Given the description of an element on the screen output the (x, y) to click on. 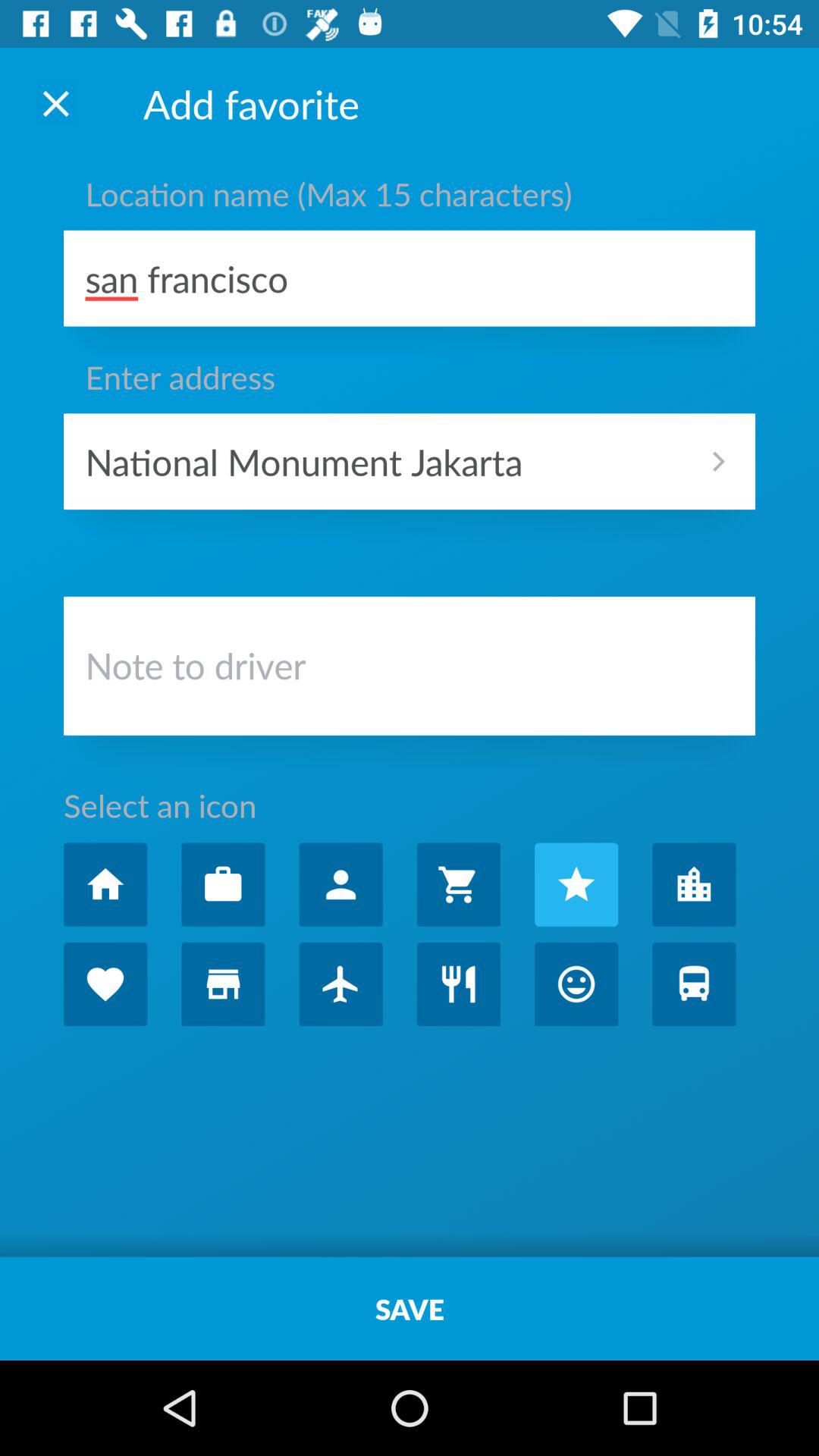
show transportatino route (693, 984)
